Given the description of an element on the screen output the (x, y) to click on. 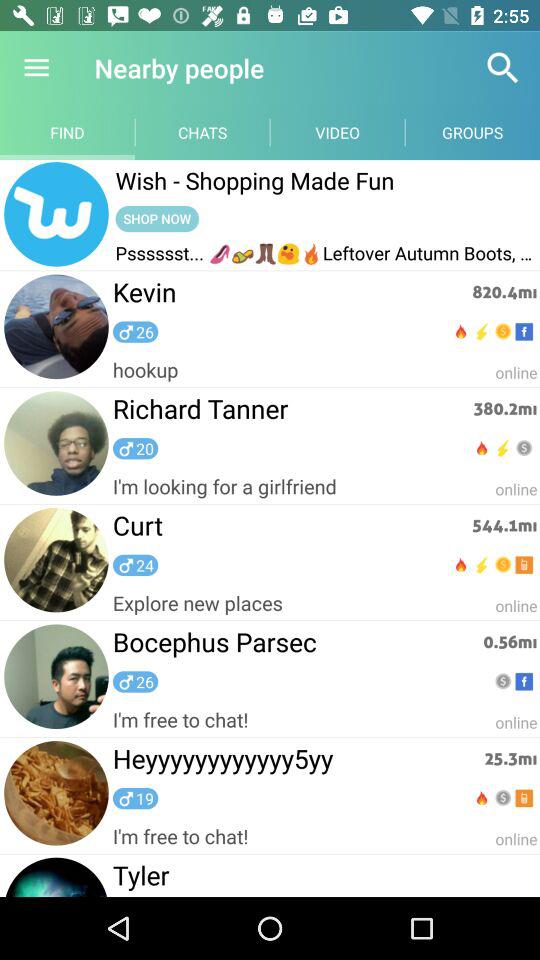
press the shop now item (157, 218)
